Given the description of an element on the screen output the (x, y) to click on. 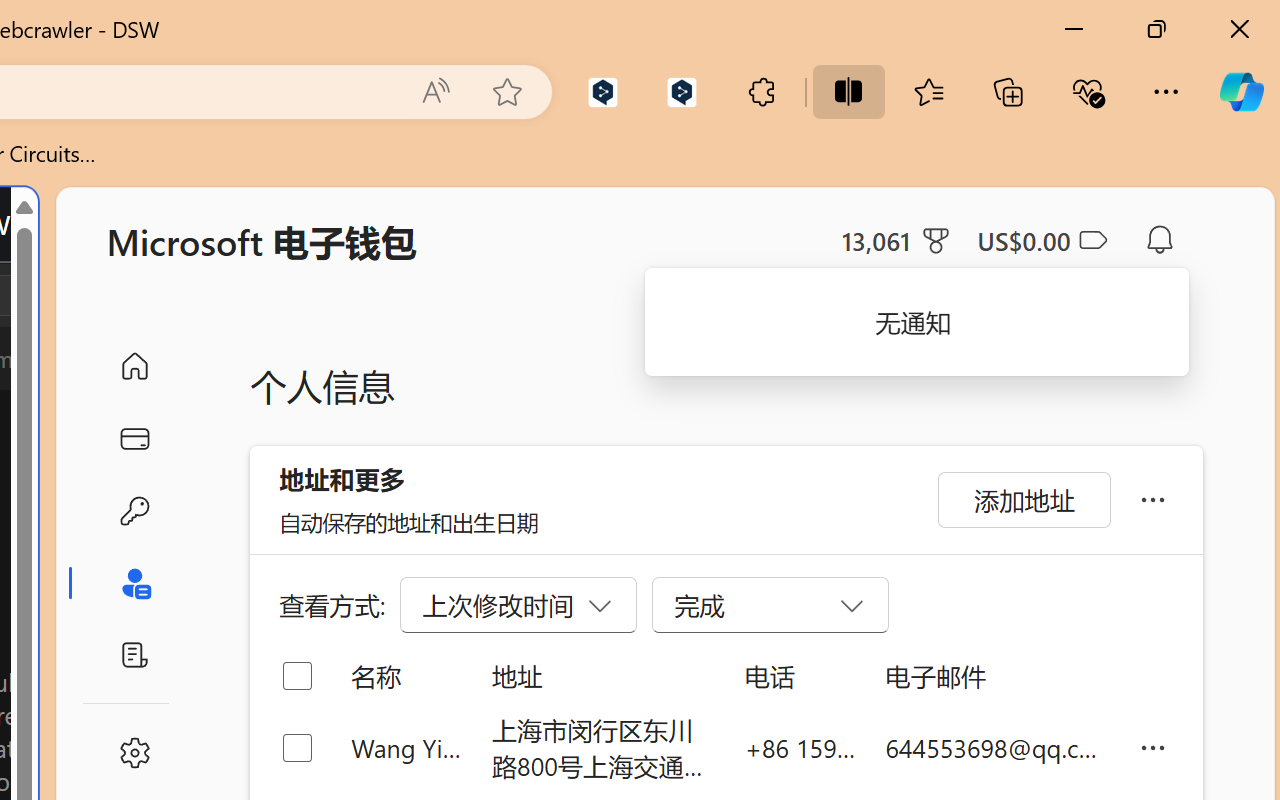
Copilot (Ctrl+Shift+.) (1241, 91)
